Given the description of an element on the screen output the (x, y) to click on. 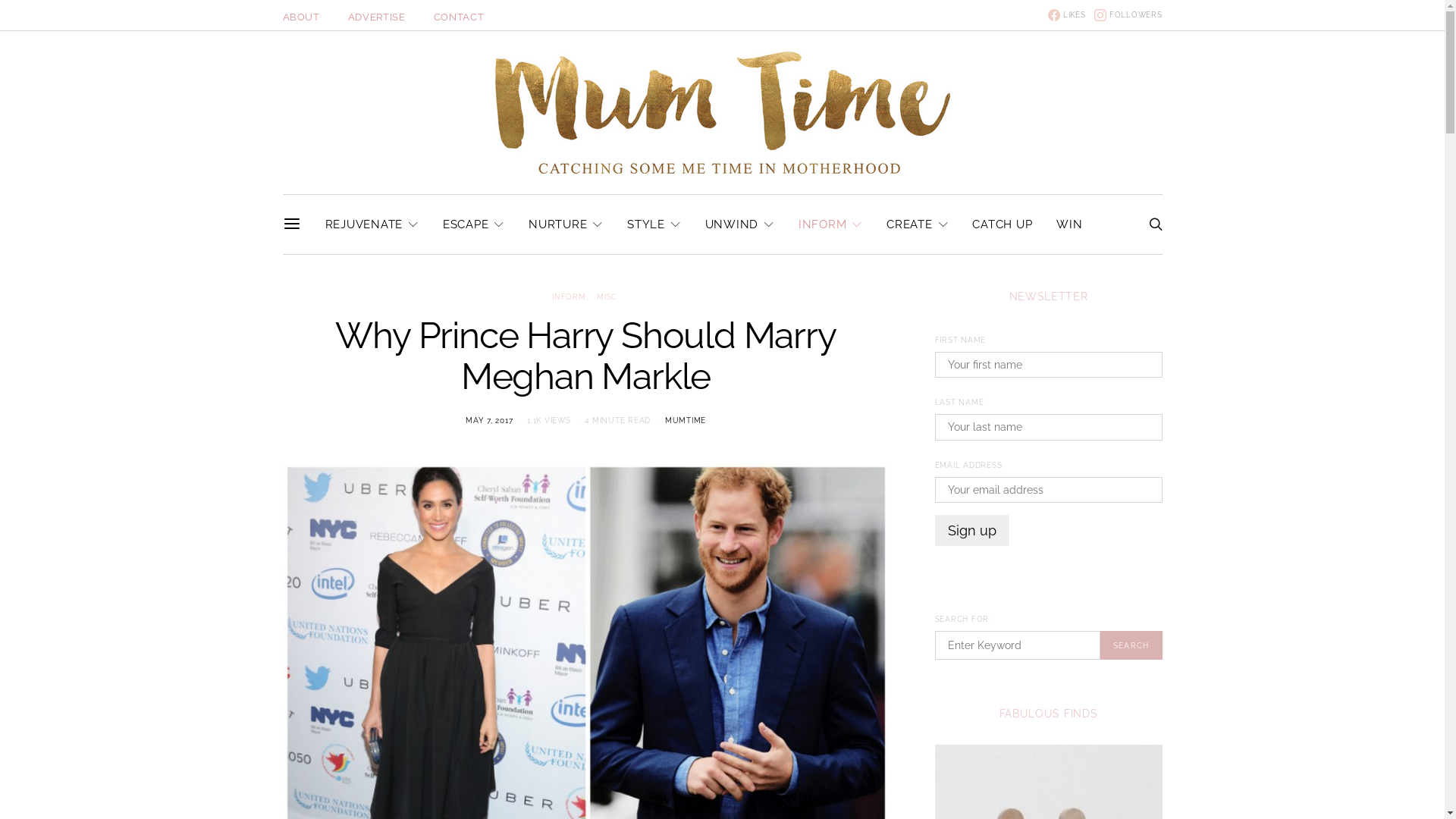
MAY 7, 2017 Element type: text (488, 420)
LIKES Element type: text (1066, 15)
NURTURE Element type: text (565, 224)
CONTACT Element type: text (458, 16)
REJUVENATE Element type: text (370, 224)
MISC. Element type: text (607, 296)
WIN Element type: text (1069, 224)
UNWIND Element type: text (739, 224)
Sign up Element type: text (971, 530)
ABOUT Element type: text (300, 16)
INFORM Element type: text (830, 224)
FOLLOWERS Element type: text (1128, 15)
ESCAPE Element type: text (473, 224)
ADVERTISE Element type: text (376, 16)
INFORM Element type: text (569, 296)
CATCH UP Element type: text (1002, 224)
MUMTIME Element type: text (685, 420)
STYLE Element type: text (653, 224)
SEARCH Element type: text (1131, 644)
CREATE Element type: text (916, 224)
